Given the description of an element on the screen output the (x, y) to click on. 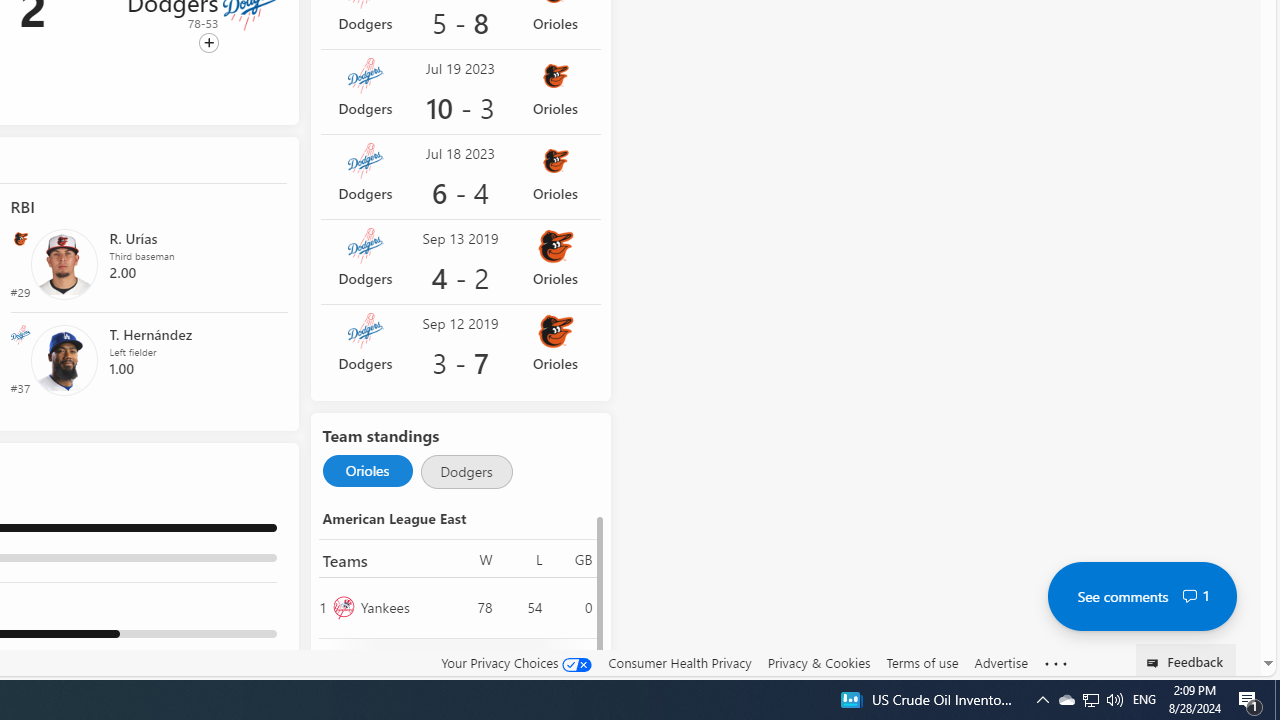
Yankees (402, 606)
See more (1055, 664)
Class: oneFooter_seeMore-DS-EntryPoint1-1 (1055, 663)
Dodgers (466, 471)
Terms of use (921, 663)
Your Privacy Choices (516, 662)
Orioles (367, 471)
Advertise (1000, 662)
Privacy & Cookies (818, 662)
Advertise (1000, 663)
Orioles (402, 668)
Selected Orioles (367, 470)
Consumer Health Privacy (680, 663)
Your Privacy Choices (516, 663)
